Given the description of an element on the screen output the (x, y) to click on. 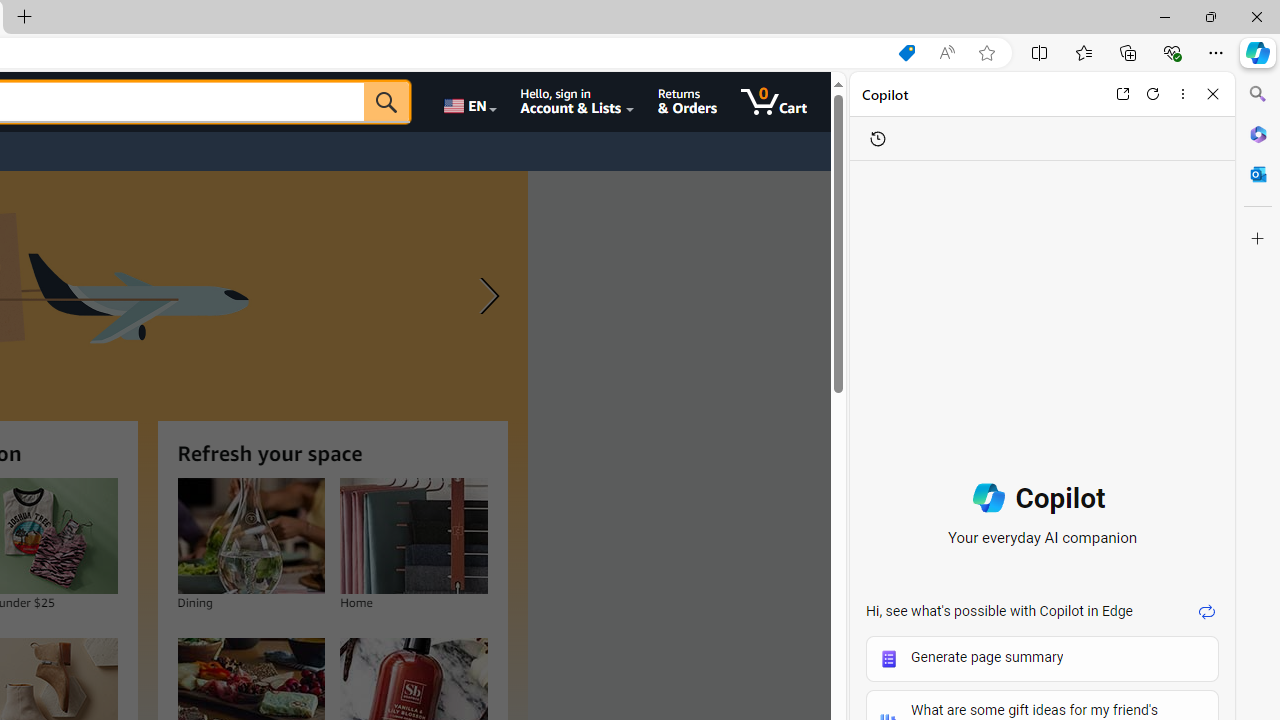
Go (386, 101)
Dining (250, 536)
Returns & Orders (686, 101)
